Given the description of an element on the screen output the (x, y) to click on. 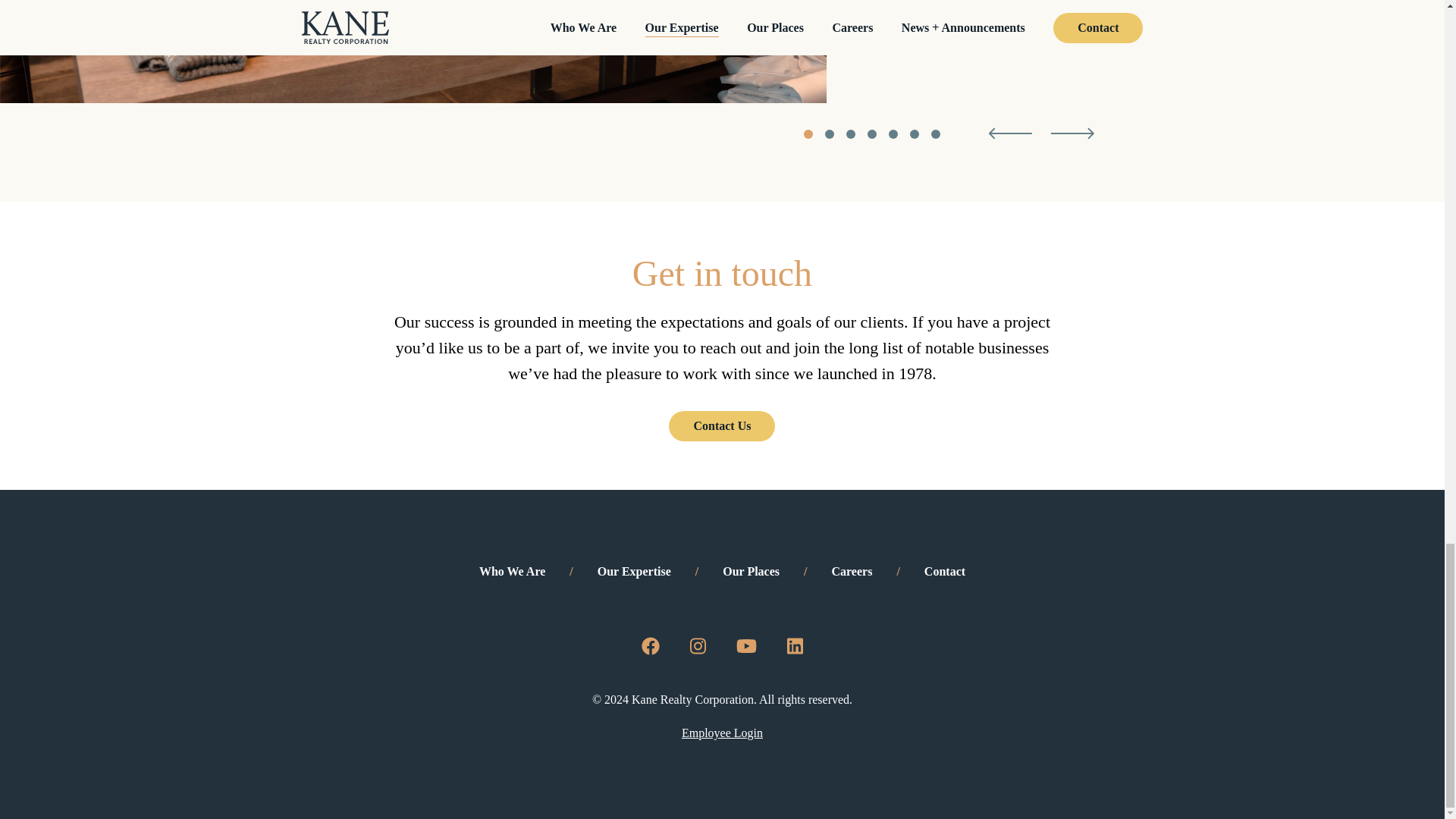
Our Expertise (633, 571)
Our Places (750, 571)
Contact Us (721, 426)
Who We Are (511, 571)
Careers (851, 571)
Contact (944, 571)
